Given the description of an element on the screen output the (x, y) to click on. 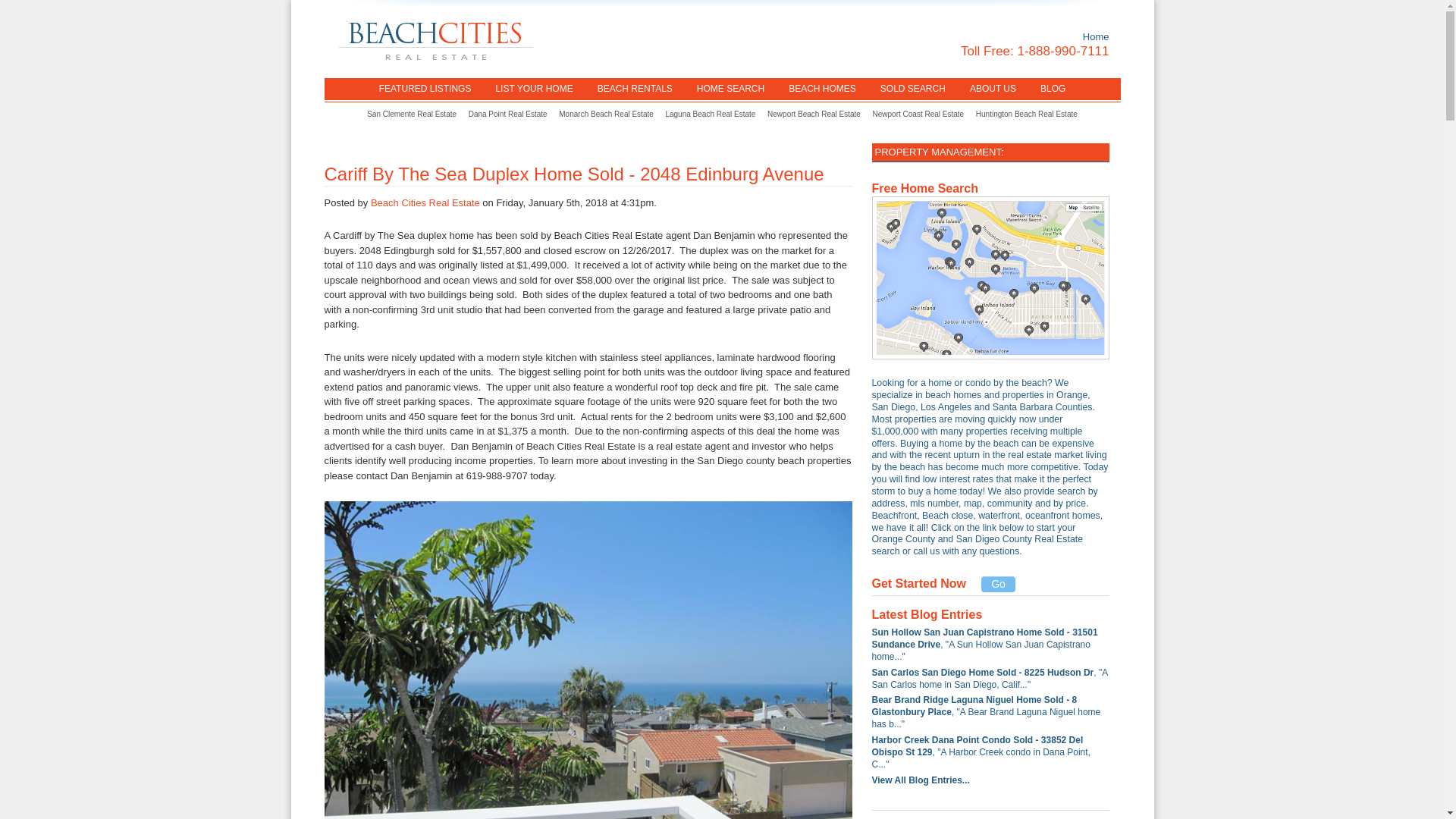
Newport Coast Real Estate (918, 113)
BEACH RENTALS (634, 88)
BEACH HOMES (821, 88)
LIST YOUR HOME (534, 88)
FEATURED LISTINGS (424, 88)
SOLD SEARCH (912, 88)
HOME SEARCH (730, 88)
